Given the description of an element on the screen output the (x, y) to click on. 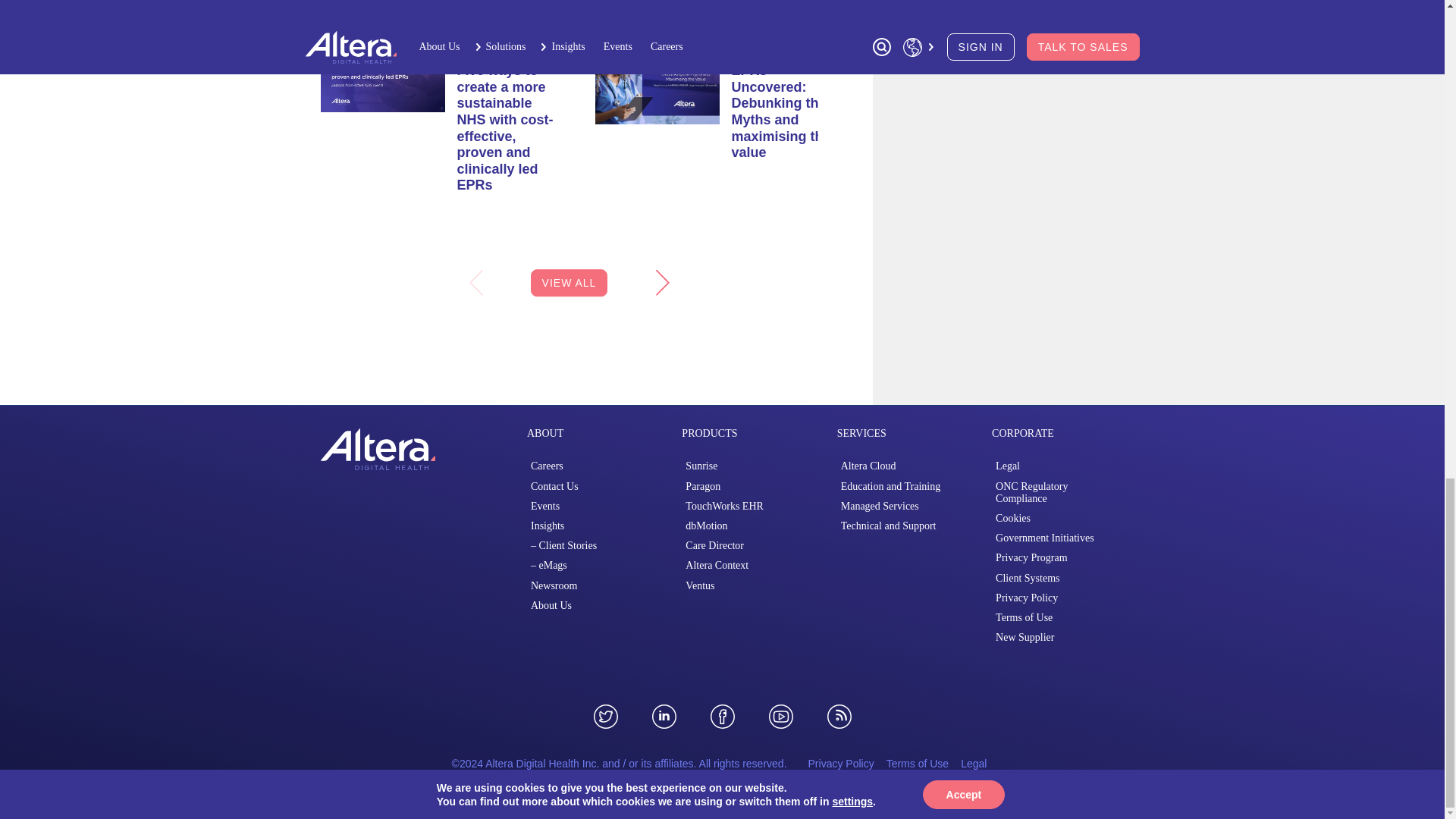
Read More (779, 111)
Read (656, 77)
Read (382, 71)
